Given the description of an element on the screen output the (x, y) to click on. 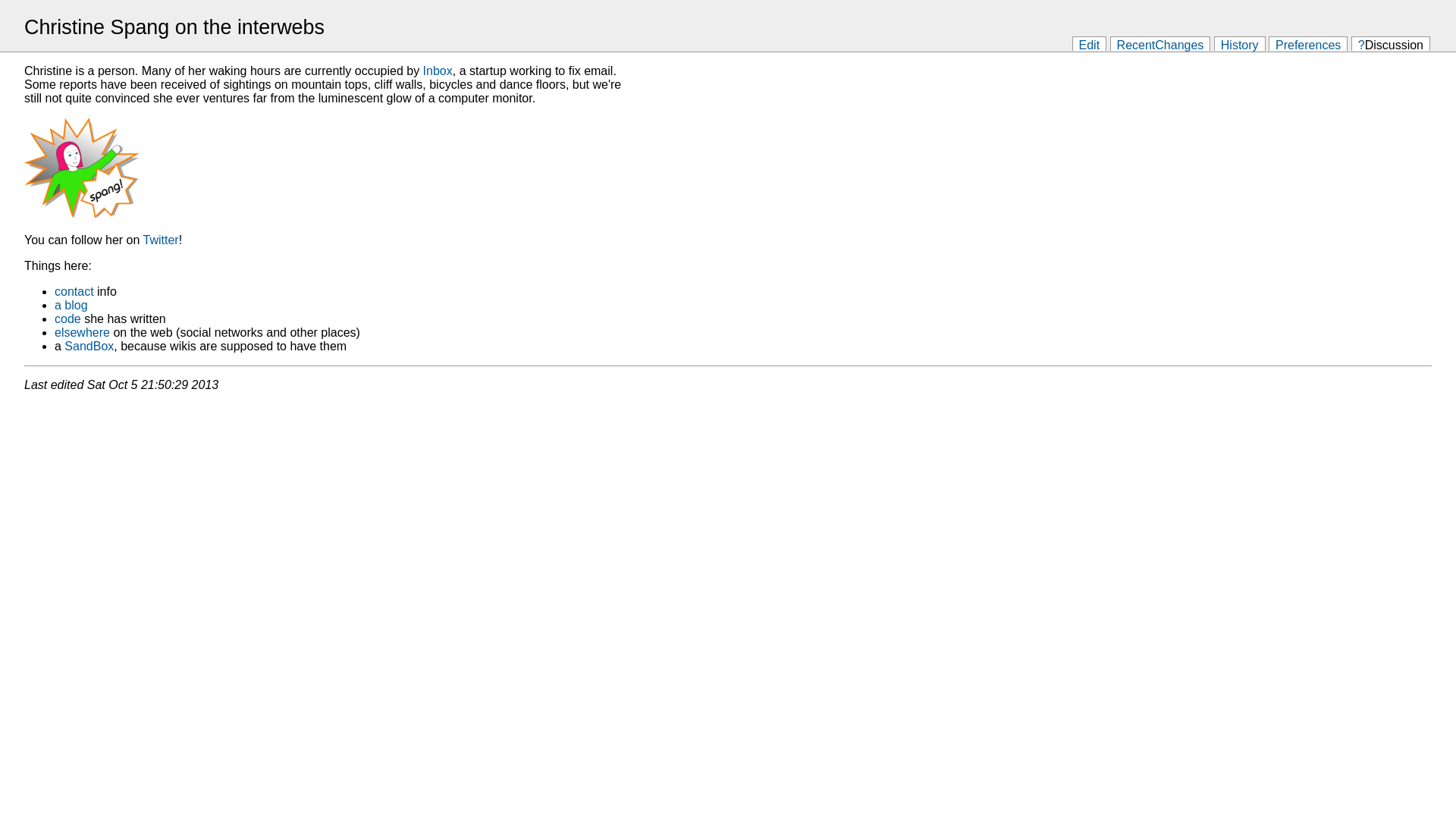
Edit Element type: text (1089, 43)
elsewhere Element type: text (81, 332)
Inbox Element type: text (437, 70)
RecentChanges Element type: text (1160, 43)
History Element type: text (1239, 43)
Preferences Element type: text (1307, 43)
Twitter Element type: text (160, 239)
a blog Element type: text (70, 304)
SandBox Element type: text (88, 345)
? Element type: text (1361, 43)
code Element type: text (67, 318)
contact Element type: text (74, 291)
